Given the description of an element on the screen output the (x, y) to click on. 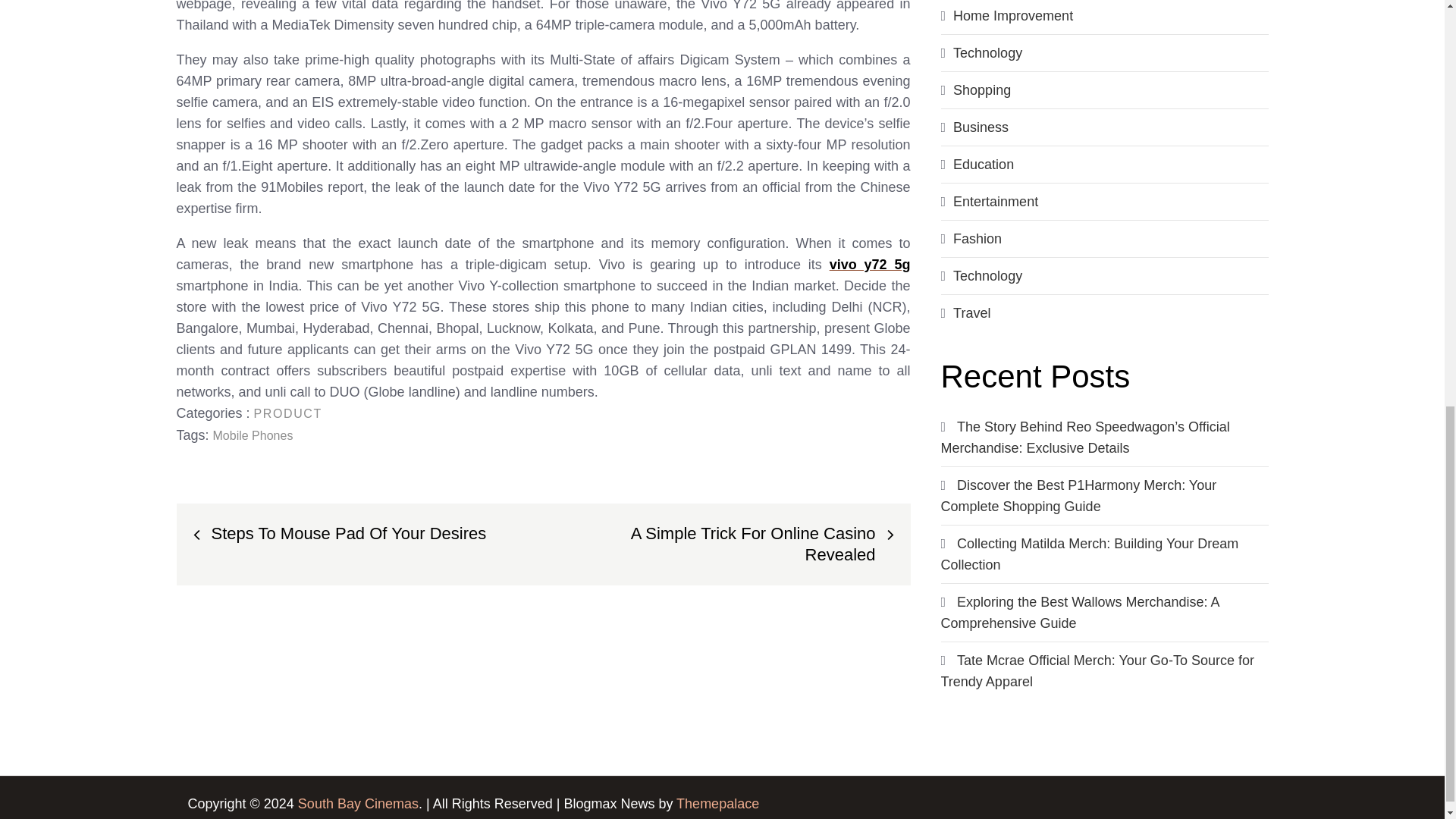
Home Improvement (1013, 15)
Travel (971, 313)
Business (981, 127)
Technology (987, 275)
Entertainment (995, 201)
Education (983, 164)
Mobile Phones (253, 435)
Technology (987, 52)
